Given the description of an element on the screen output the (x, y) to click on. 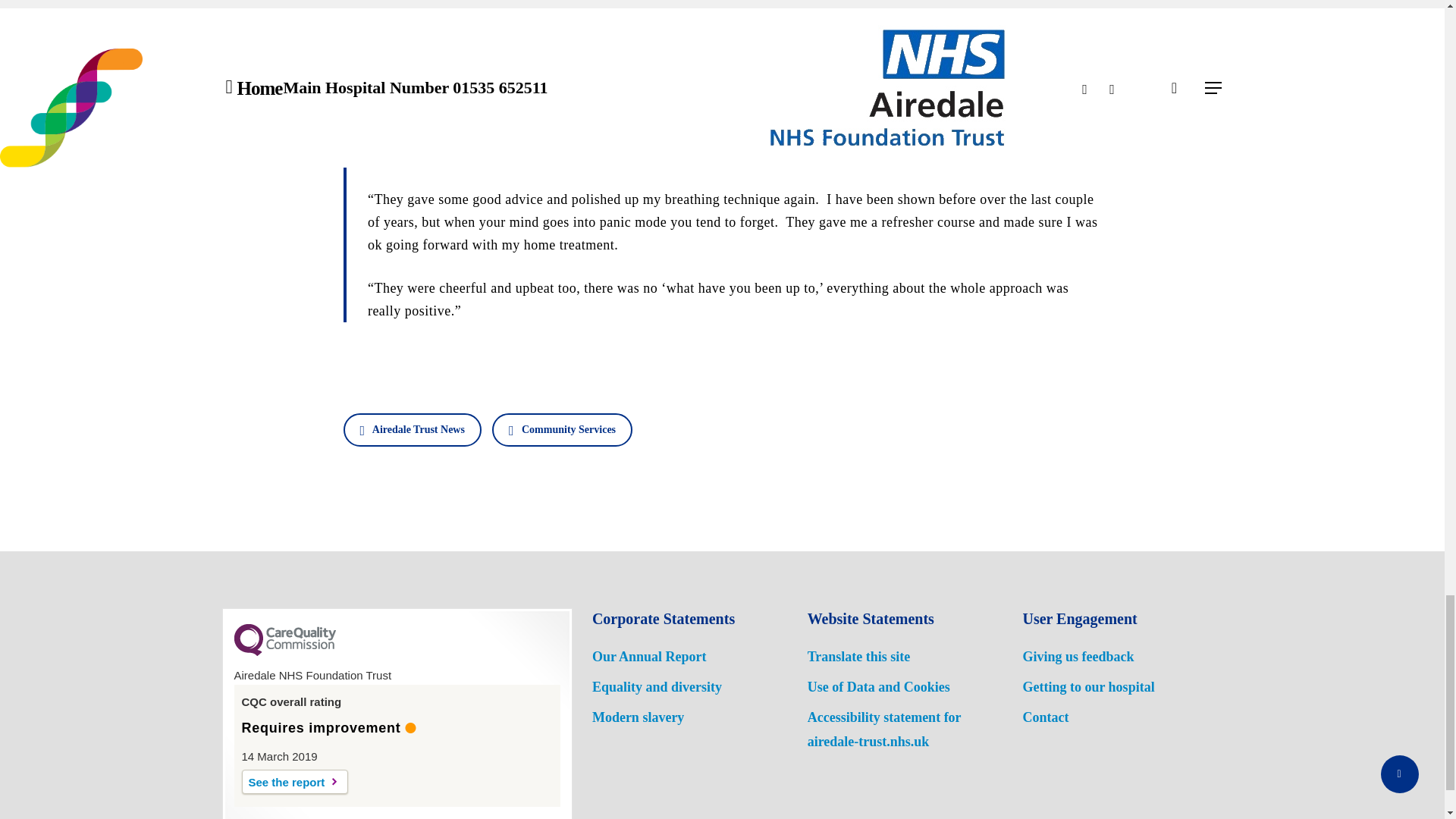
Getting to our hospital (1088, 686)
See the report (294, 781)
Modern slavery (638, 717)
Airedale Trust News (411, 428)
Equality and diversity (657, 686)
Accessibility statement for airedale-trust.nhs.uk (884, 729)
Community Services (561, 428)
Contact (1045, 717)
Translate this site (859, 656)
Use of Data and Cookies (879, 686)
